Given the description of an element on the screen output the (x, y) to click on. 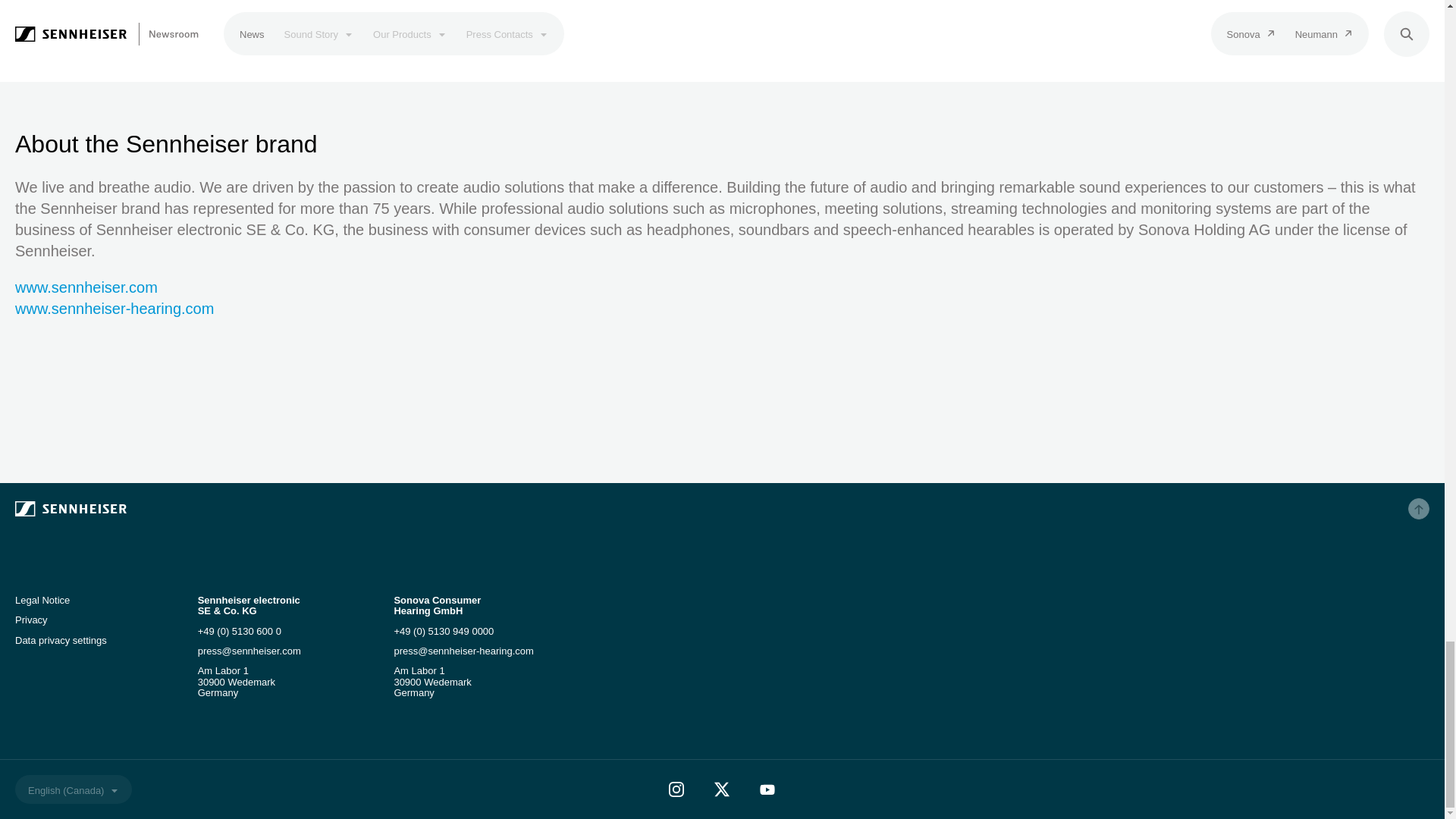
Legal Notice (41, 600)
Youtube (767, 789)
Sennheiser (250, 508)
www.sennheiser.com (85, 287)
Twitter (721, 789)
www.sennheiser-hearing.com (114, 308)
Instagram (676, 789)
Data privacy settings (60, 640)
Privacy (31, 619)
